Given the description of an element on the screen output the (x, y) to click on. 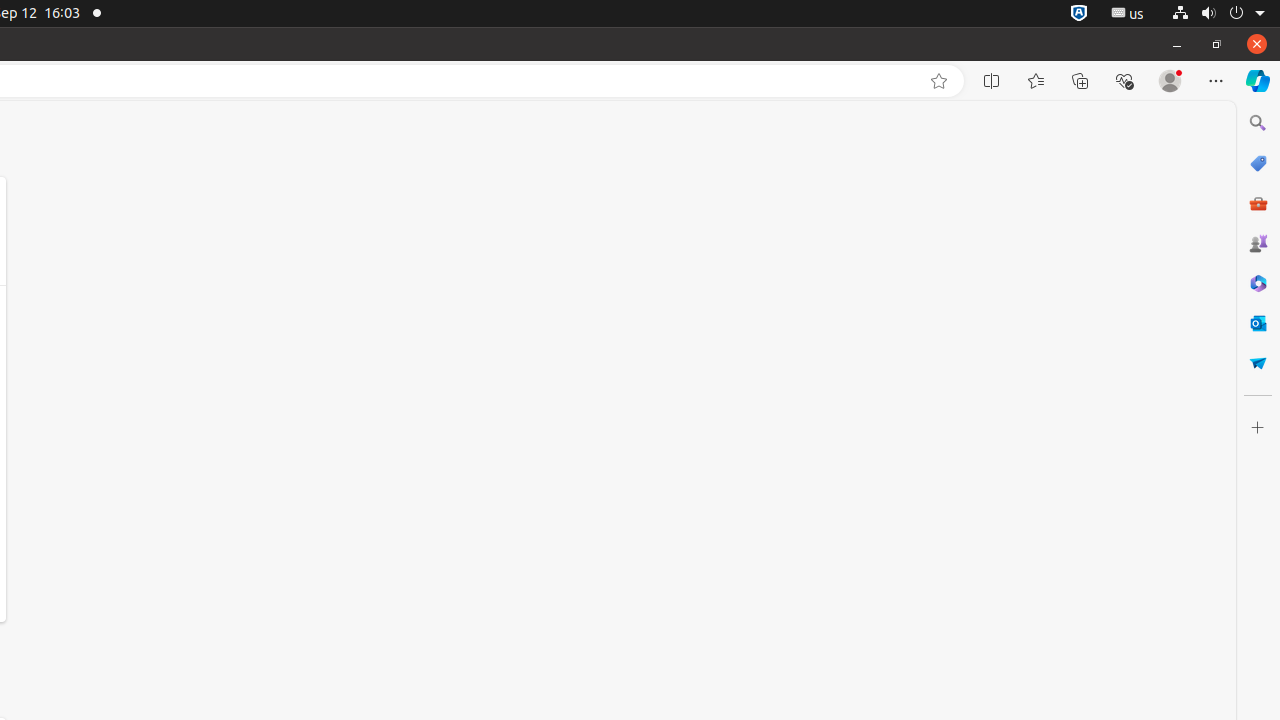
Add this page to favorites (Ctrl+D) Element type: push-button (939, 81)
Settings and more (Alt+F) Element type: push-button (1216, 81)
Customize Element type: push-button (1258, 428)
Favorites Element type: push-button (1036, 81)
Browser essentials Element type: push-button (1124, 81)
